Given the description of an element on the screen output the (x, y) to click on. 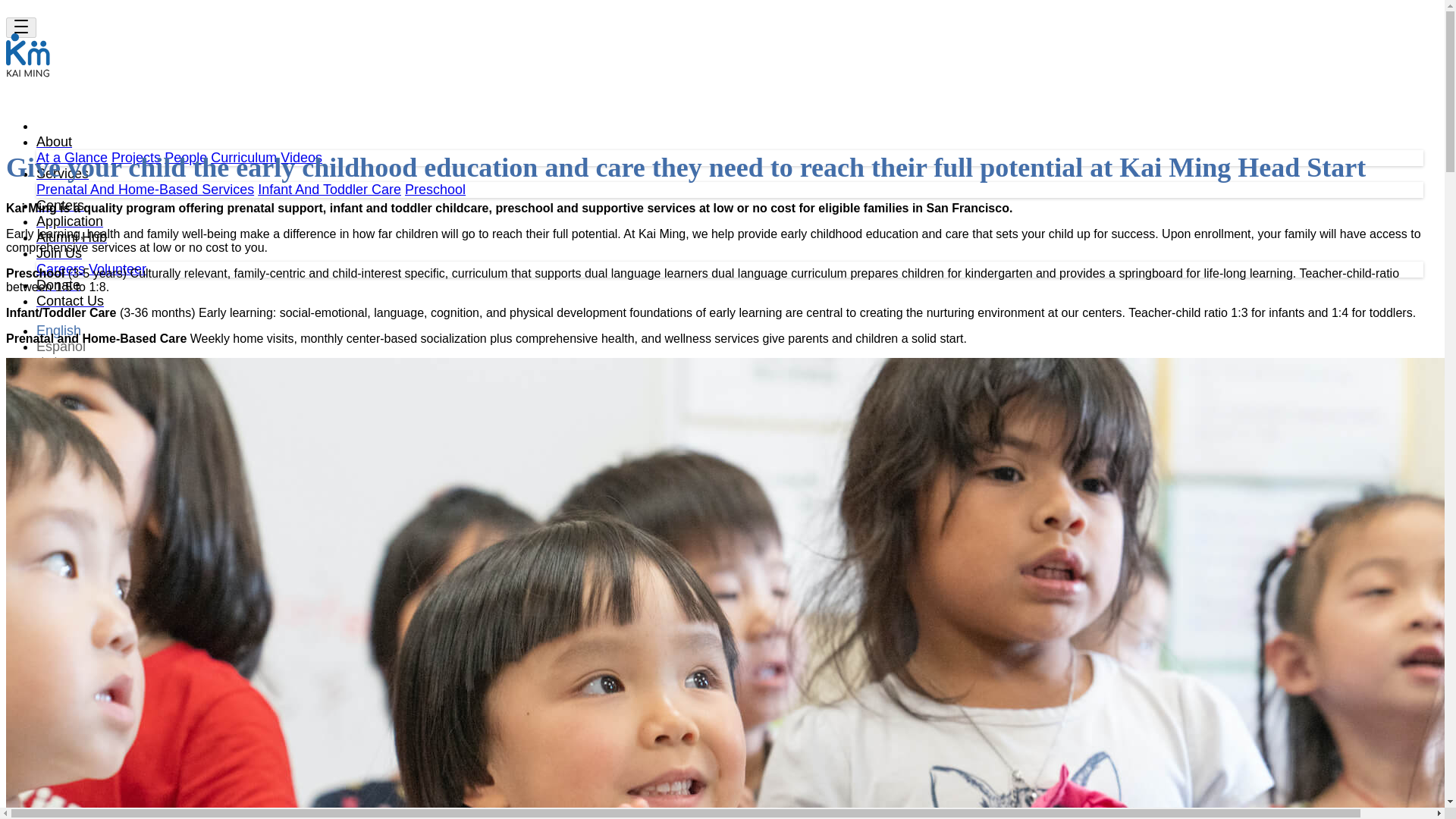
English (58, 330)
Volunteer (117, 268)
Preschool (434, 189)
Centers (60, 205)
Videos (301, 157)
Donate (58, 284)
Join Us (58, 253)
Contact Us (69, 300)
Alumni Hub (71, 237)
Careers (60, 268)
Services (62, 173)
Infant And Toddler Care (329, 189)
People (185, 157)
Application (69, 221)
Prenatal And Home-Based Services (144, 189)
